Given the description of an element on the screen output the (x, y) to click on. 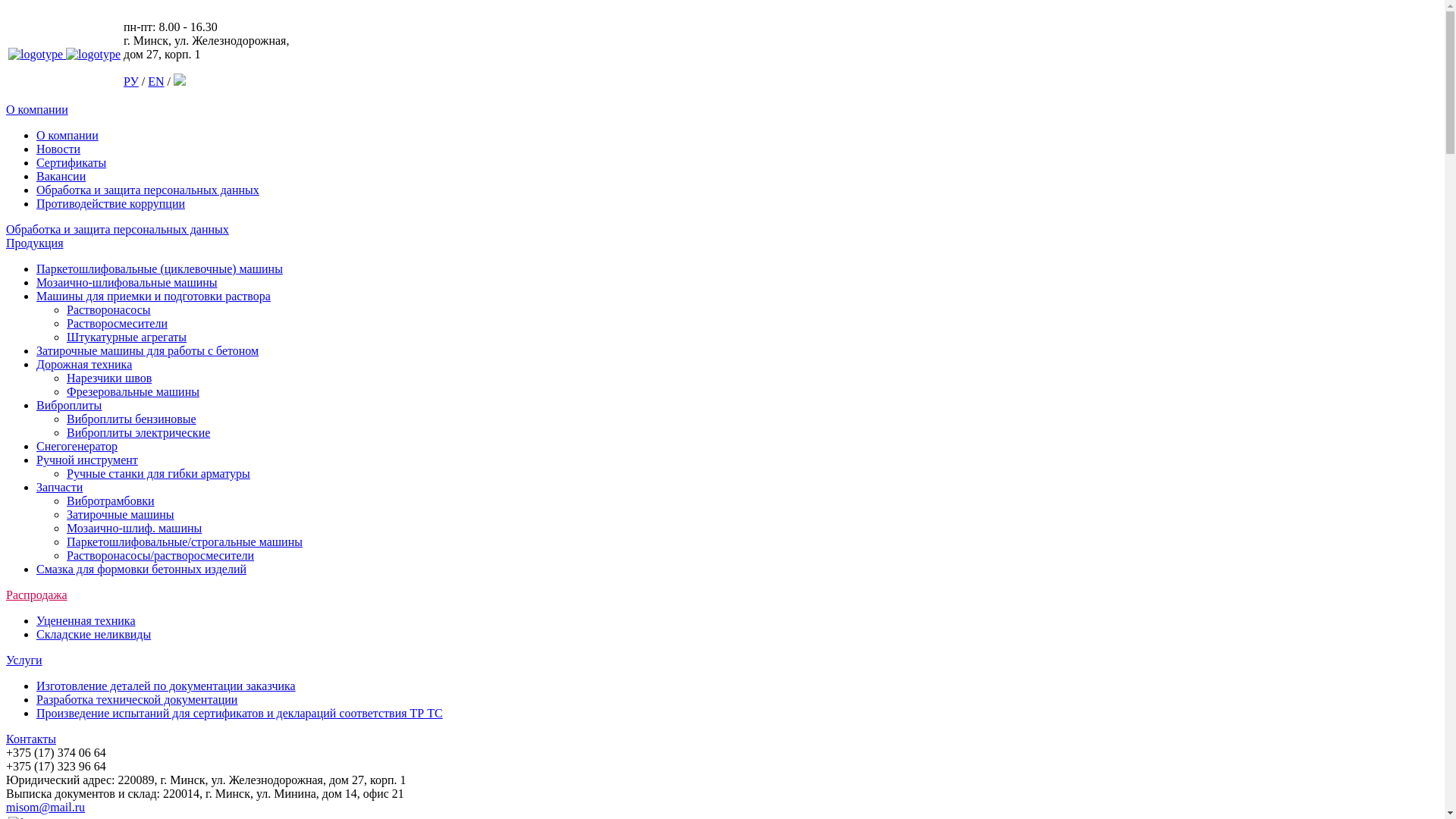
misom@mail.ru Element type: text (45, 806)
EN Element type: text (155, 81)
